Given the description of an element on the screen output the (x, y) to click on. 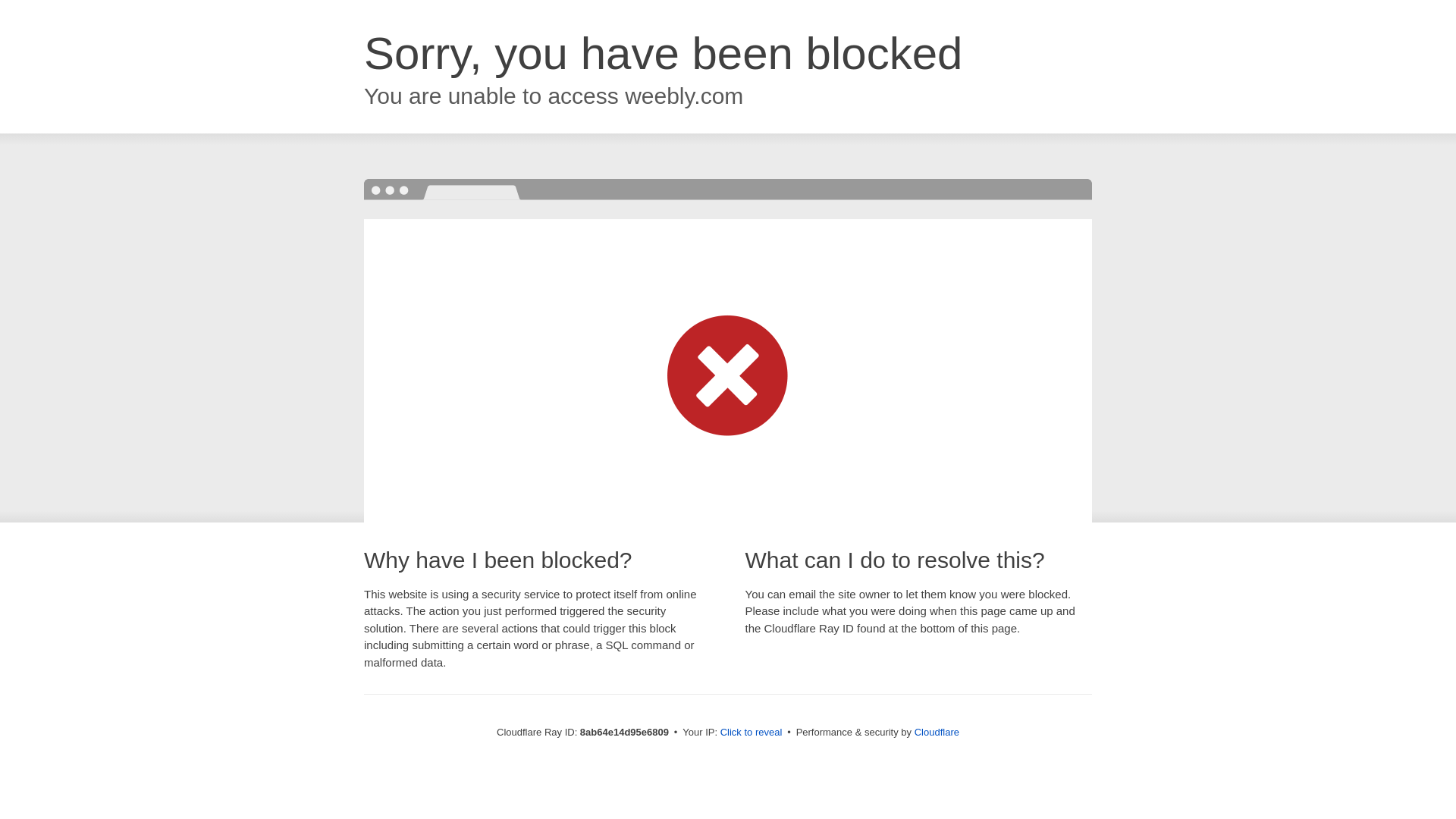
Click to reveal (751, 732)
Cloudflare (936, 731)
